Given the description of an element on the screen output the (x, y) to click on. 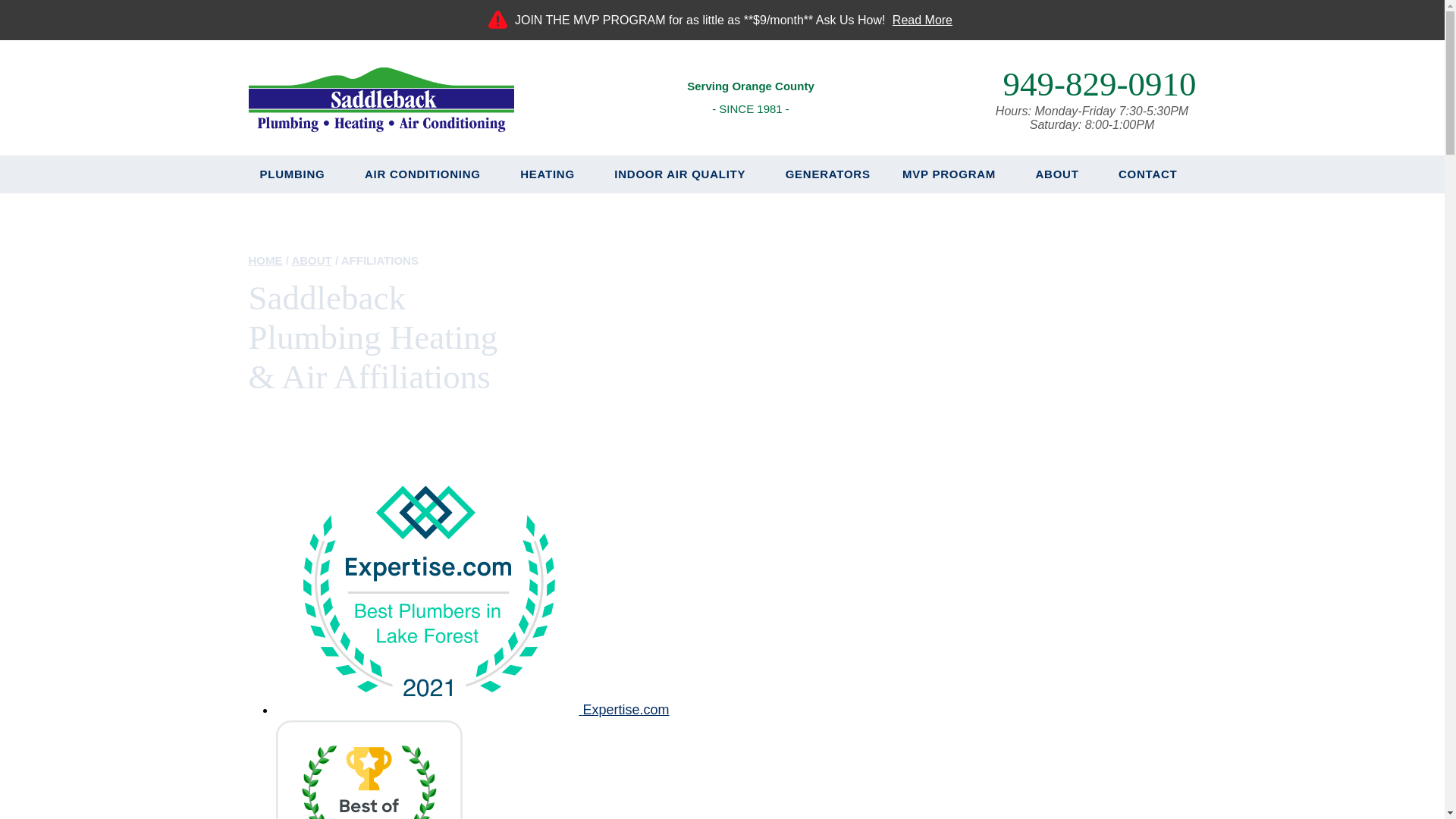
PLUMBING (295, 174)
Expertise.com (472, 709)
949-829-0910 (1099, 84)
HEATING (551, 174)
AIR CONDITIONING (426, 174)
Read More (922, 19)
